Given the description of an element on the screen output the (x, y) to click on. 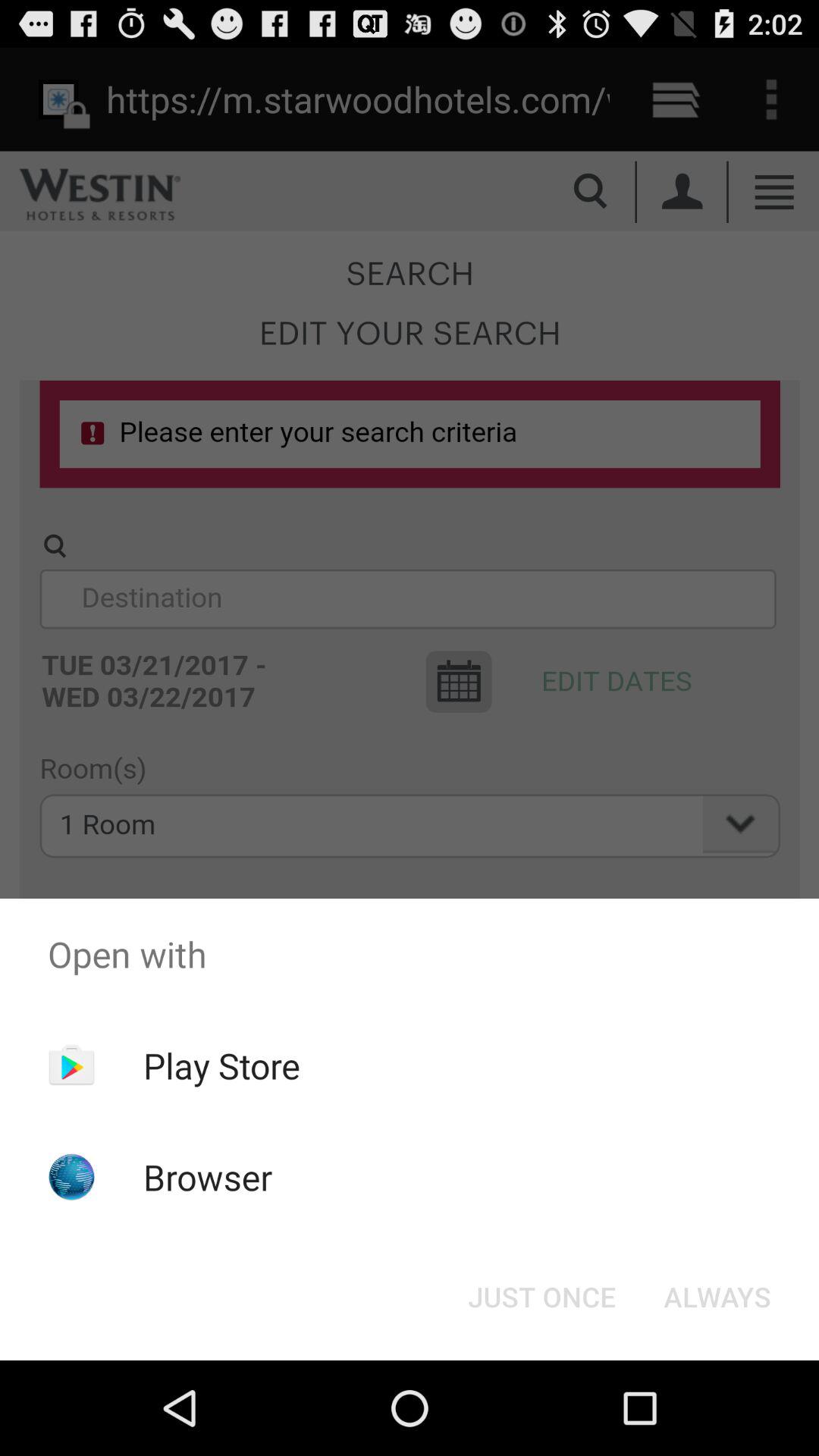
open the browser icon (207, 1176)
